Given the description of an element on the screen output the (x, y) to click on. 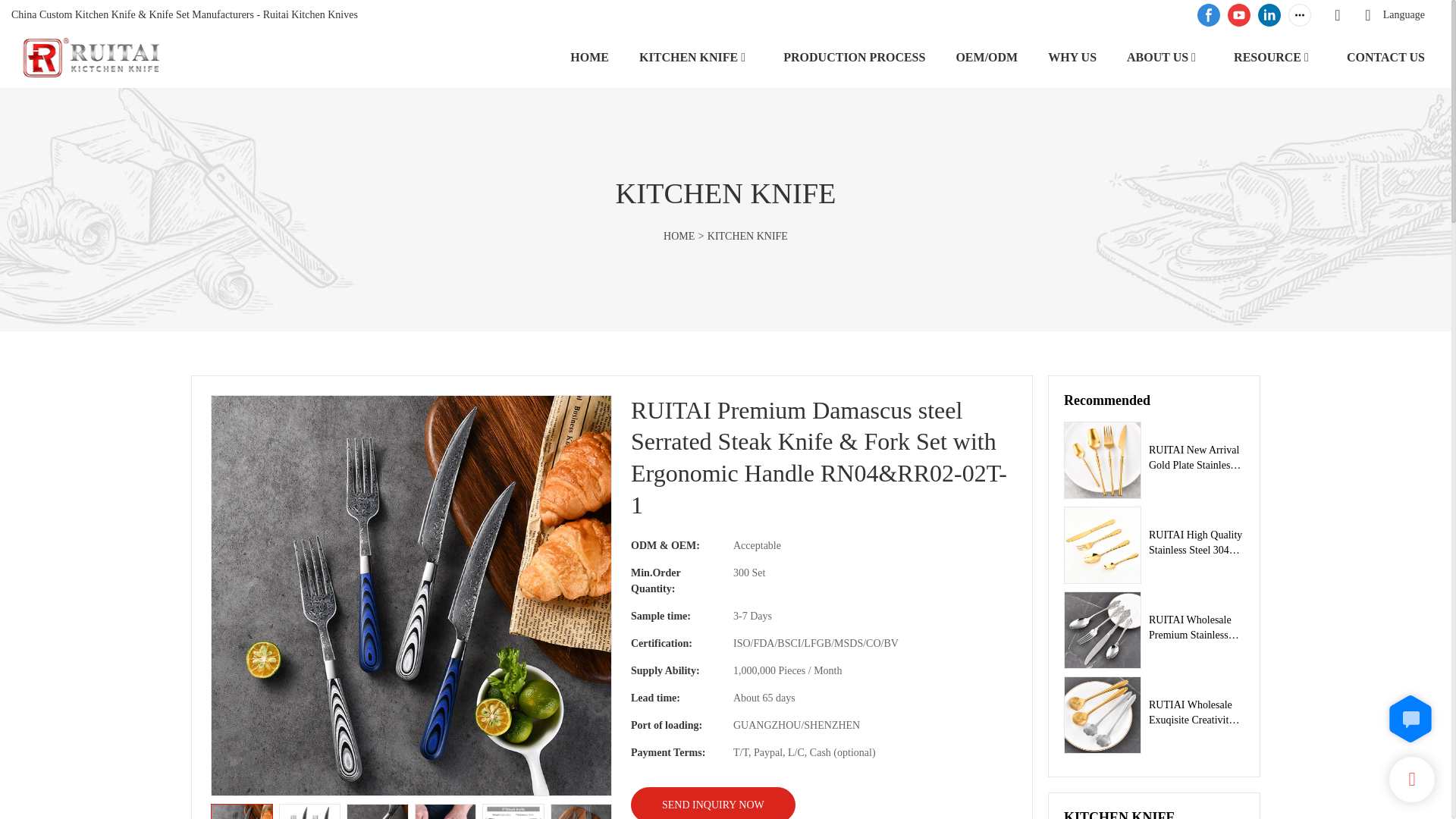
PRODUCTION PROCESS (853, 56)
ABOUT US (1157, 56)
KITCHEN KNIFE (688, 56)
HOME (678, 235)
HOME (589, 56)
WHY US (1072, 56)
RUTIAI Wholesale Exuqisite Creativity Flower Coffee Spoon (1196, 712)
youtube (1238, 15)
linkedin (1268, 15)
CONTACT US (1385, 56)
RESOURCE (1267, 56)
facebook (1208, 15)
RUITAI New Arrival Gold Plate Stainless Steel Cutlery Set (1196, 458)
